Given the description of an element on the screen output the (x, y) to click on. 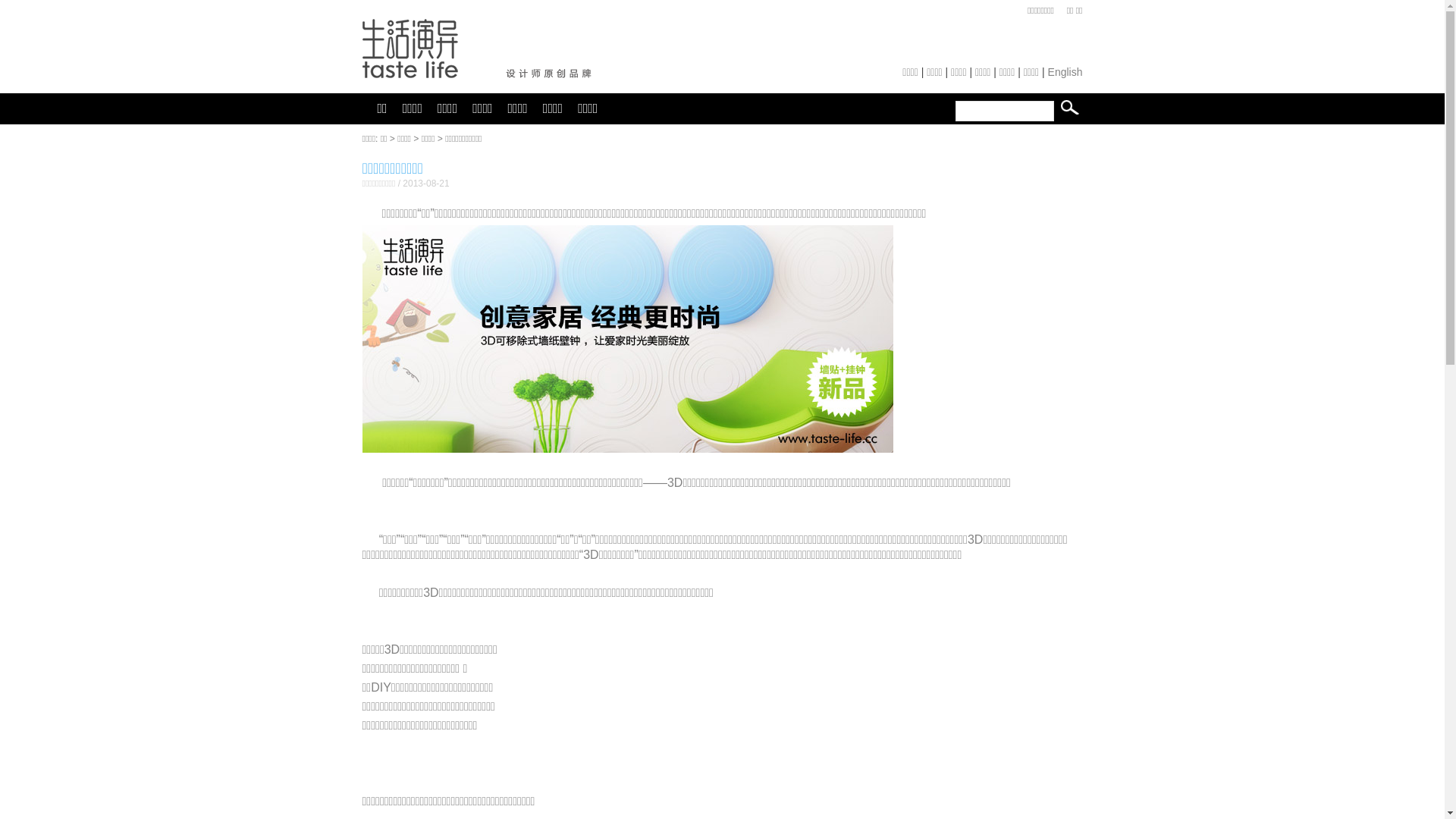
English Element type: text (1065, 71)
